Given the description of an element on the screen output the (x, y) to click on. 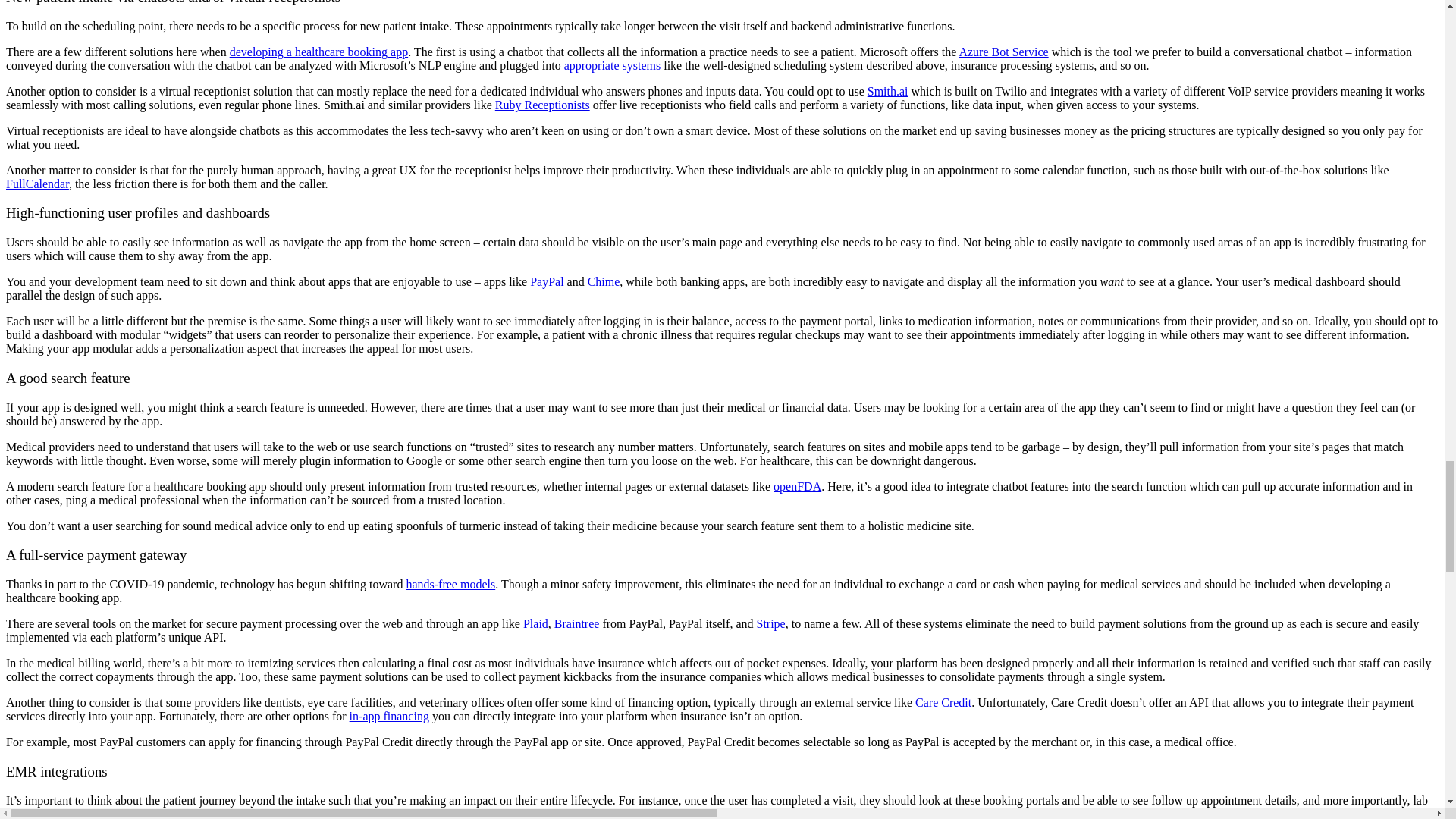
developing a healthcare booking app (318, 51)
